Given the description of an element on the screen output the (x, y) to click on. 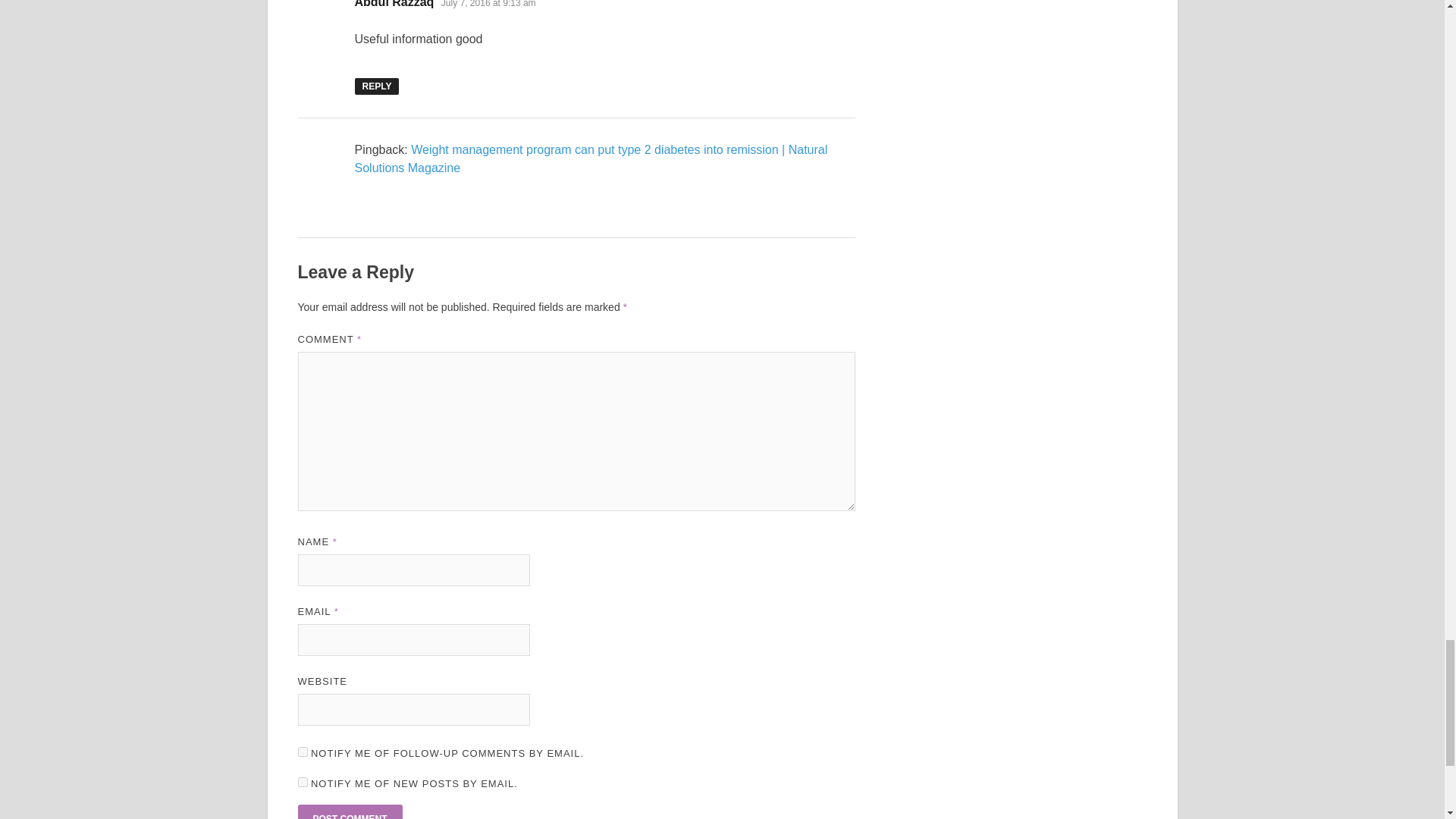
subscribe (302, 751)
Post Comment (349, 811)
subscribe (302, 782)
